Given the description of an element on the screen output the (x, y) to click on. 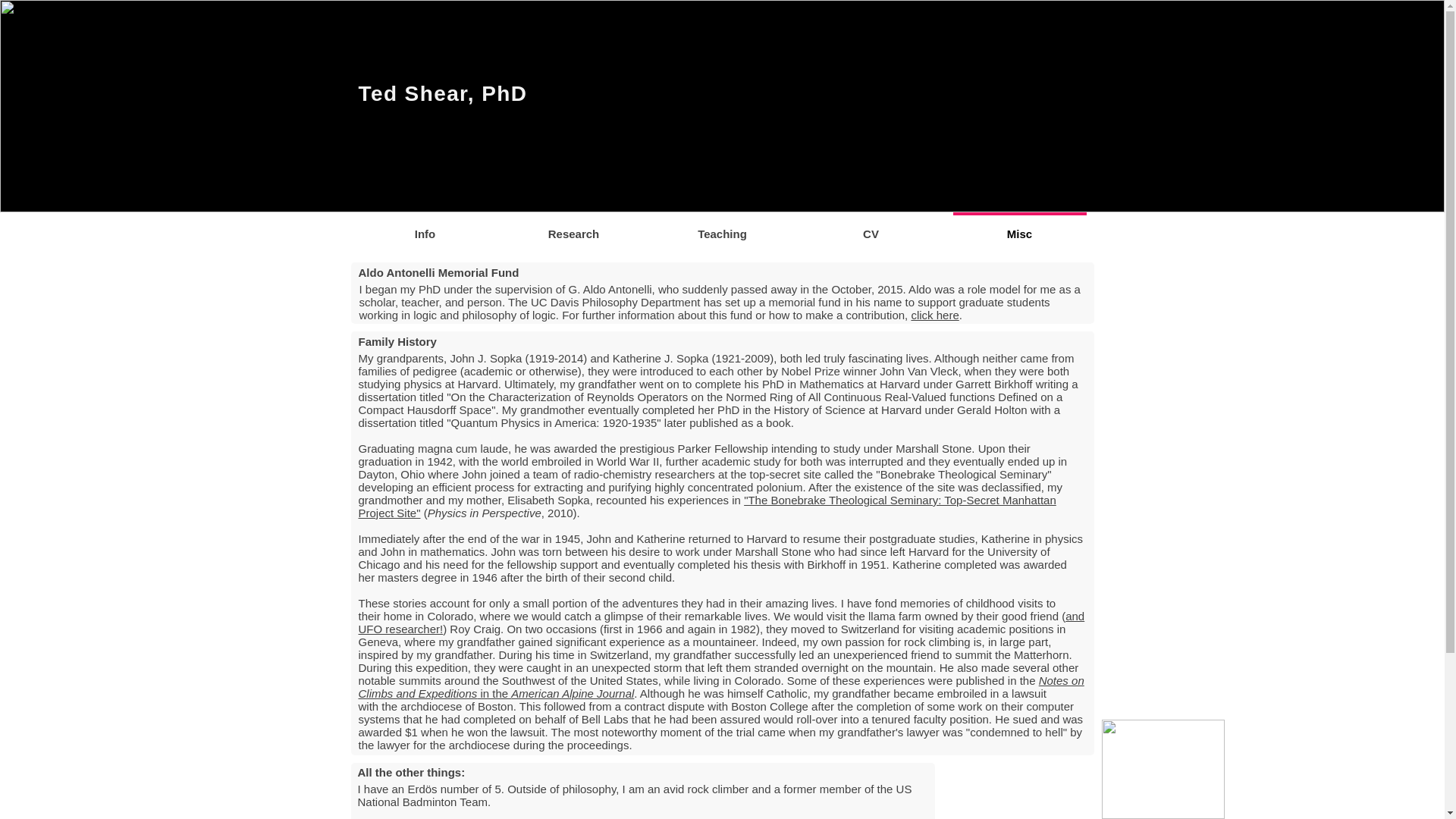
Research (573, 226)
and UFO researcher! (721, 622)
click here (934, 314)
Ted Shear, PhD (442, 93)
External YouTube (1017, 790)
Info (424, 226)
Log In (1044, 131)
Misc (1018, 226)
Teaching (721, 226)
CV (870, 226)
